Given the description of an element on the screen output the (x, y) to click on. 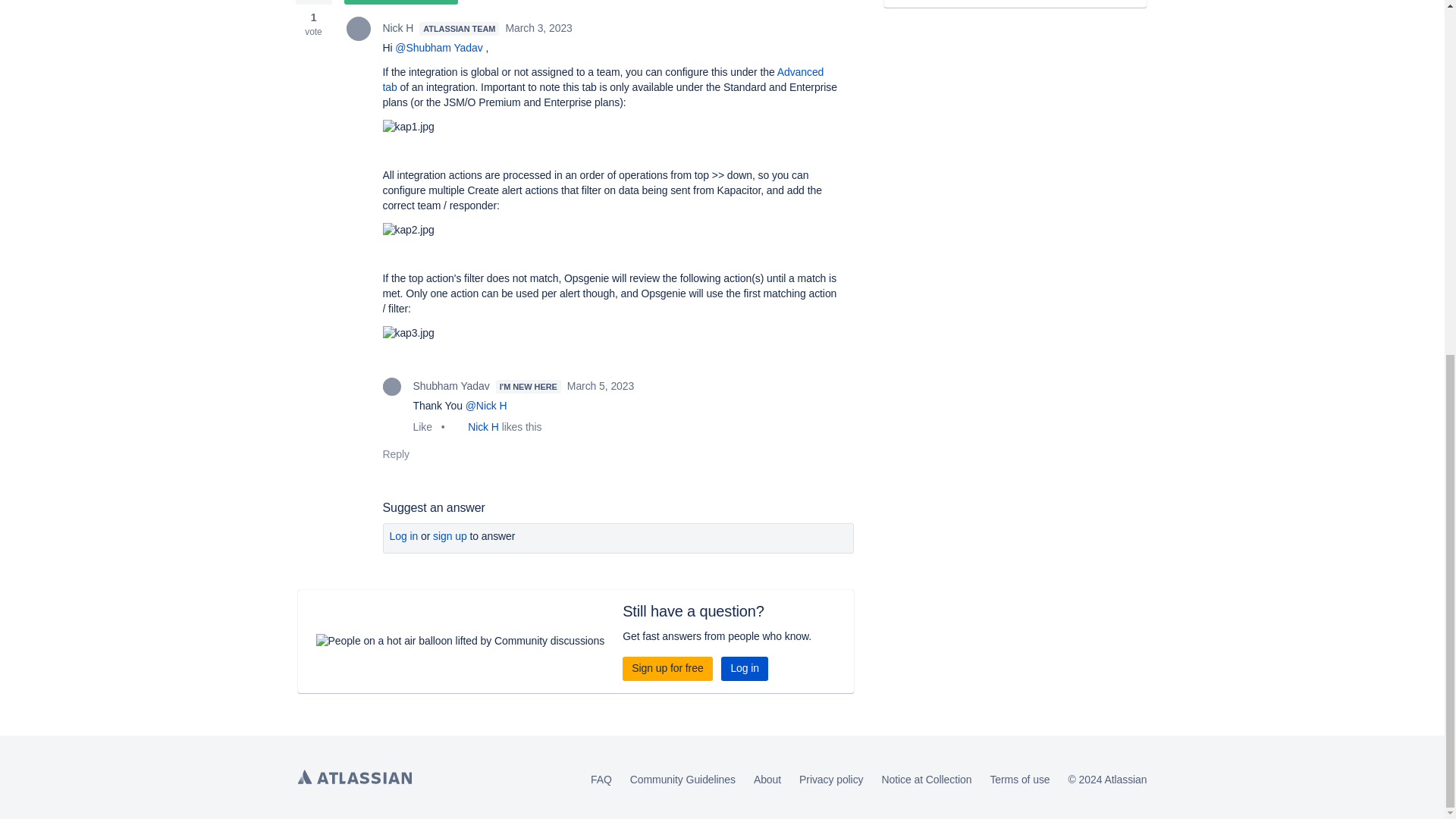
kap2.jpg (407, 230)
kap1.jpg (407, 127)
Nick H (357, 28)
Shubham Yadav (390, 386)
kap3.jpg (407, 333)
